Given the description of an element on the screen output the (x, y) to click on. 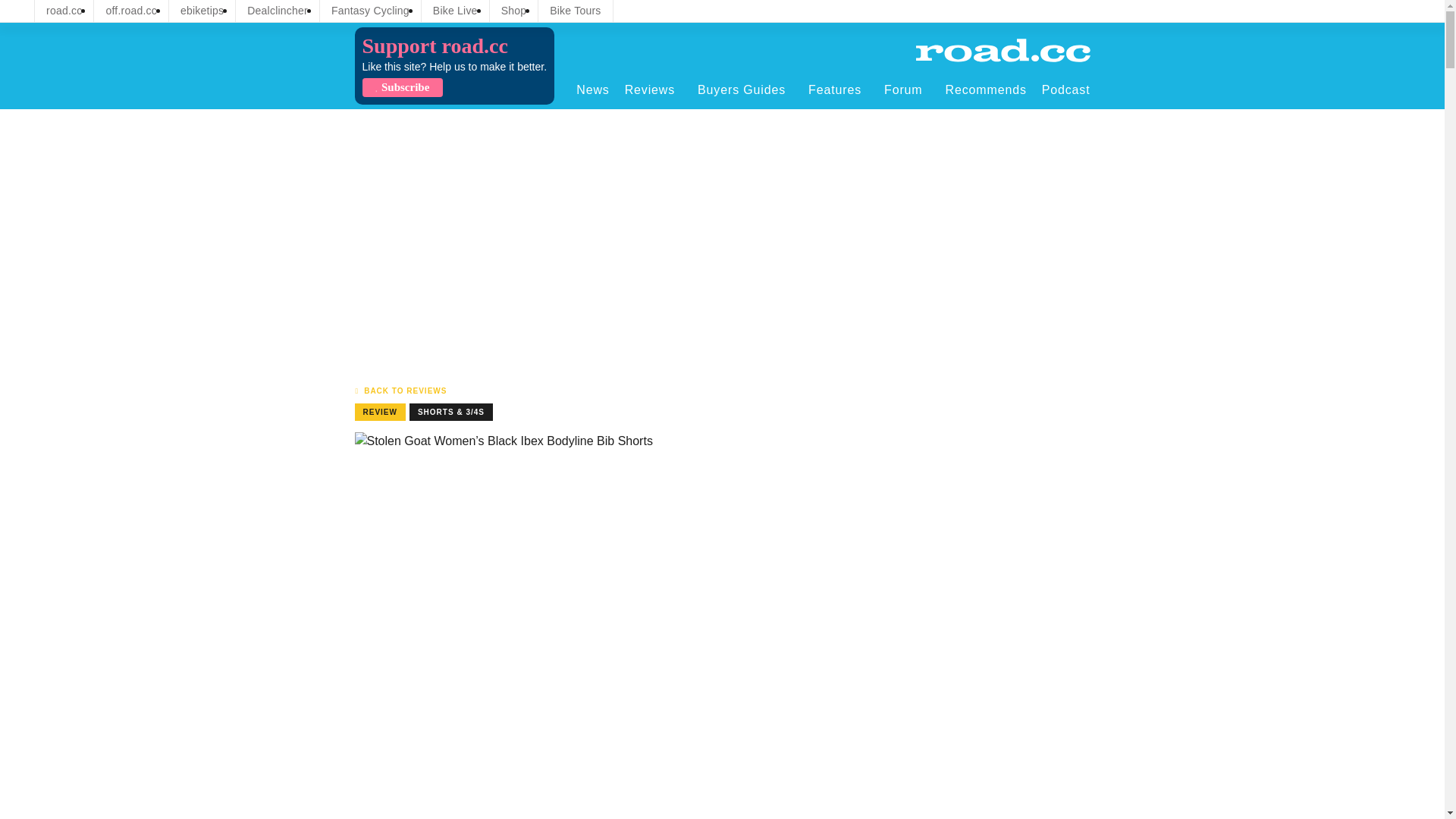
road.cc (63, 11)
Fantasy Cycling (370, 11)
ebiketips (201, 11)
Subscribe (402, 87)
Dealclincher (276, 11)
Bike Tours (574, 11)
Shop (513, 11)
Bike Live (455, 11)
Reviews (653, 89)
Home (1002, 50)
off.road.cc (131, 11)
